Given the description of an element on the screen output the (x, y) to click on. 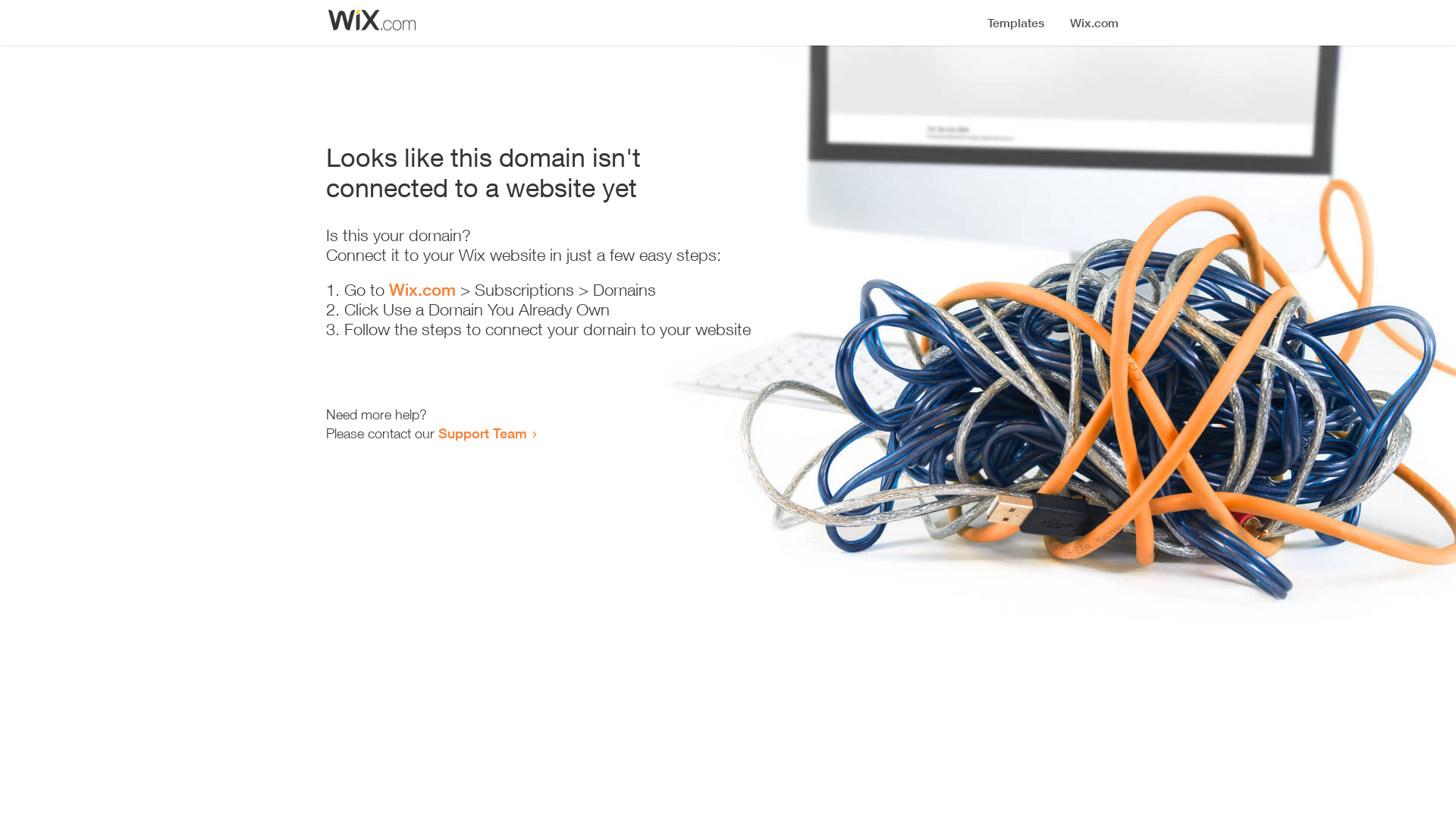
Support Team Element type: text (482, 432)
Wix.com Element type: text (422, 289)
